Given the description of an element on the screen output the (x, y) to click on. 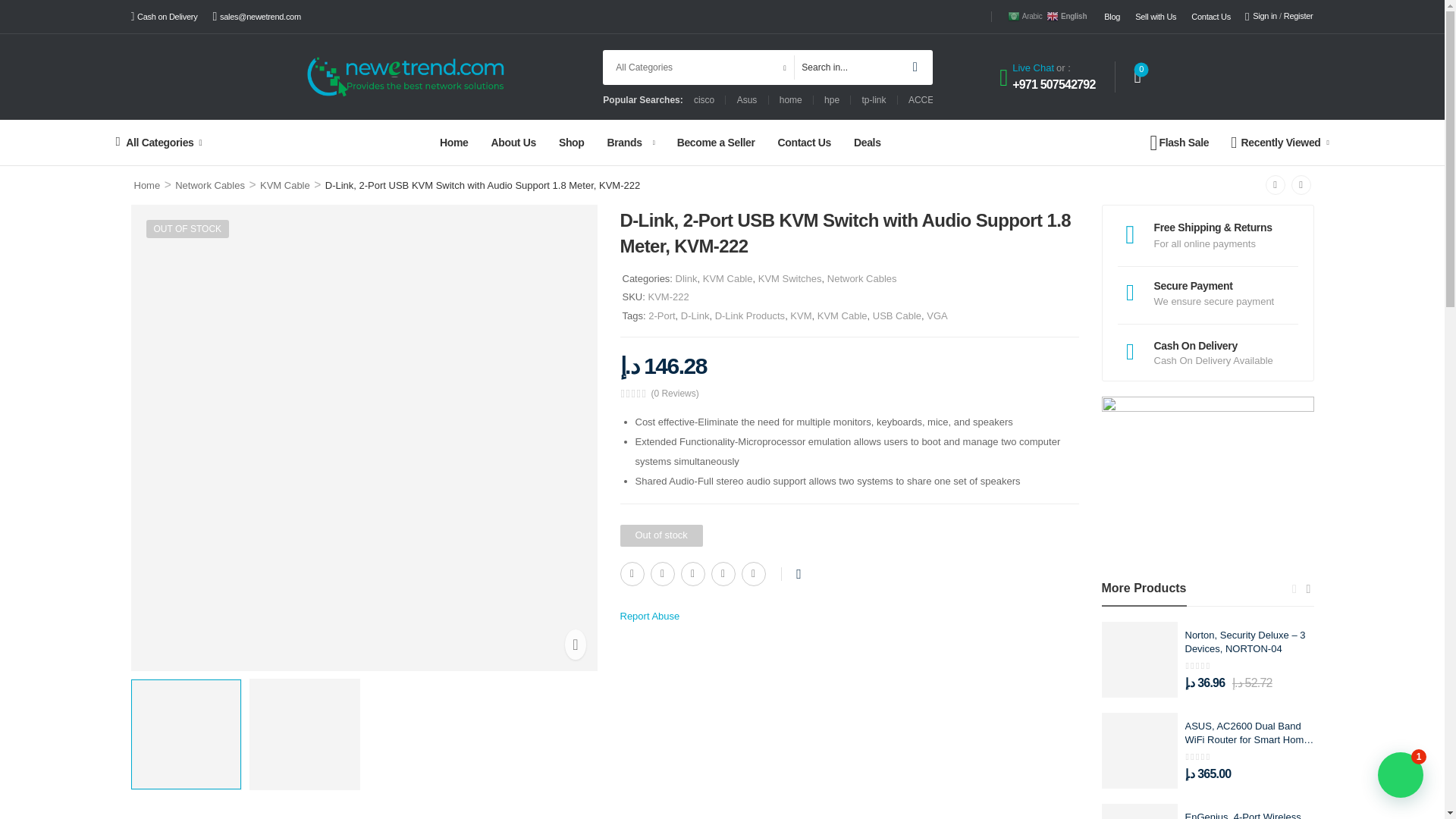
tp-link (873, 99)
Blog (1111, 16)
Pinterest (692, 573)
Arabic (1025, 15)
English (1067, 15)
cisco (703, 99)
Sell with Us (1155, 16)
ACCESS POINT (941, 99)
Facebook (632, 573)
Linkedin (753, 573)
All Categories (209, 142)
Twitter (662, 573)
Contact Us (1210, 16)
Sign in (1260, 16)
home (790, 99)
